Given the description of an element on the screen output the (x, y) to click on. 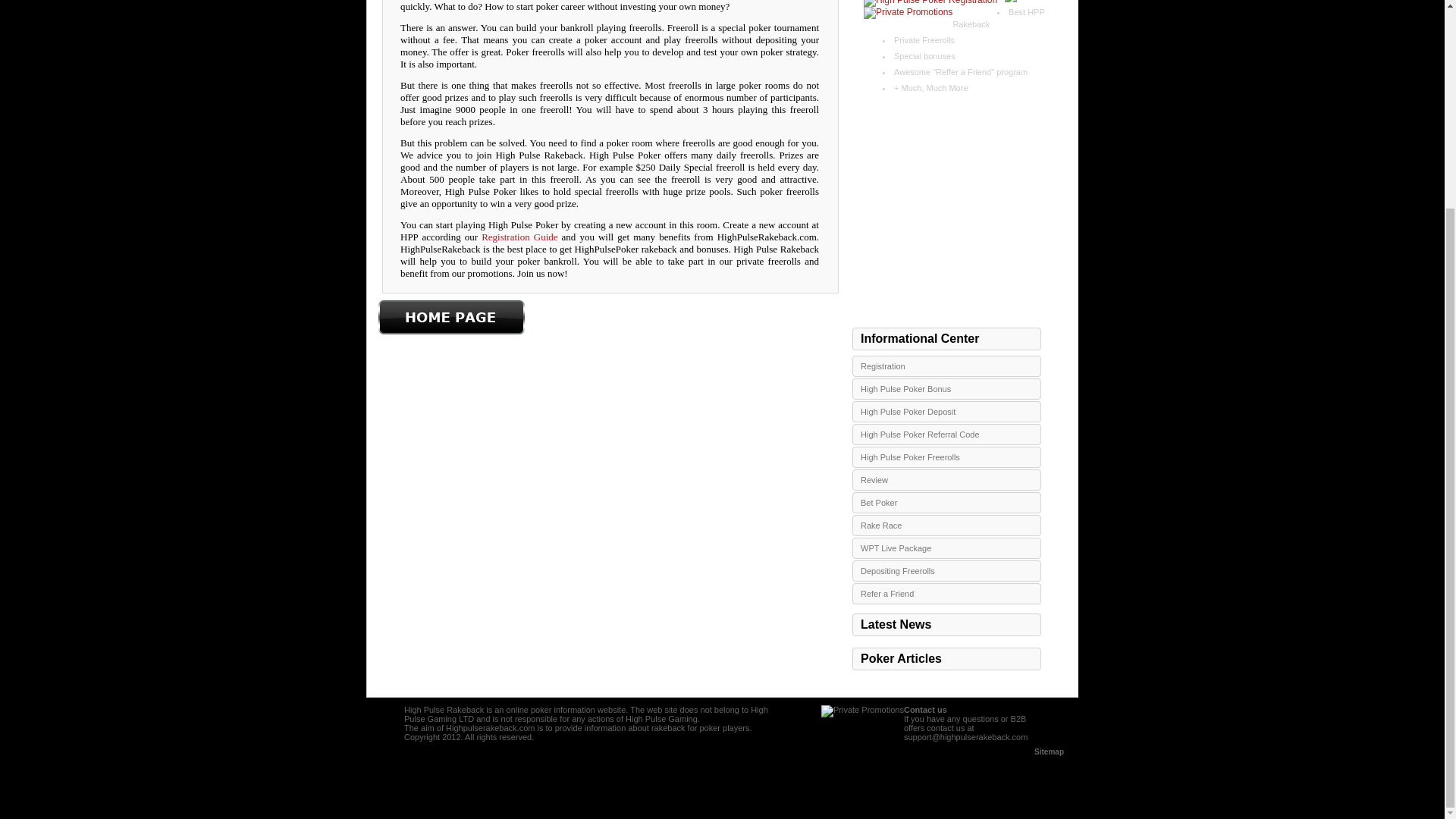
Poker Articles (946, 658)
Rake Race (947, 525)
Sitemap (1048, 751)
High Pulse Poker Deposit (947, 411)
High Pulse Poker Referral Code (947, 434)
High Pulse Poker Bonus (947, 388)
High Pulse Poker Freerolls (947, 456)
Registration Guide (519, 236)
Review (947, 479)
WPT Live Package (947, 547)
Bet Poker (947, 502)
Depositing Freerolls (947, 570)
Registration (947, 365)
Latest News (946, 624)
Refer a Friend (947, 593)
